Given the description of an element on the screen output the (x, y) to click on. 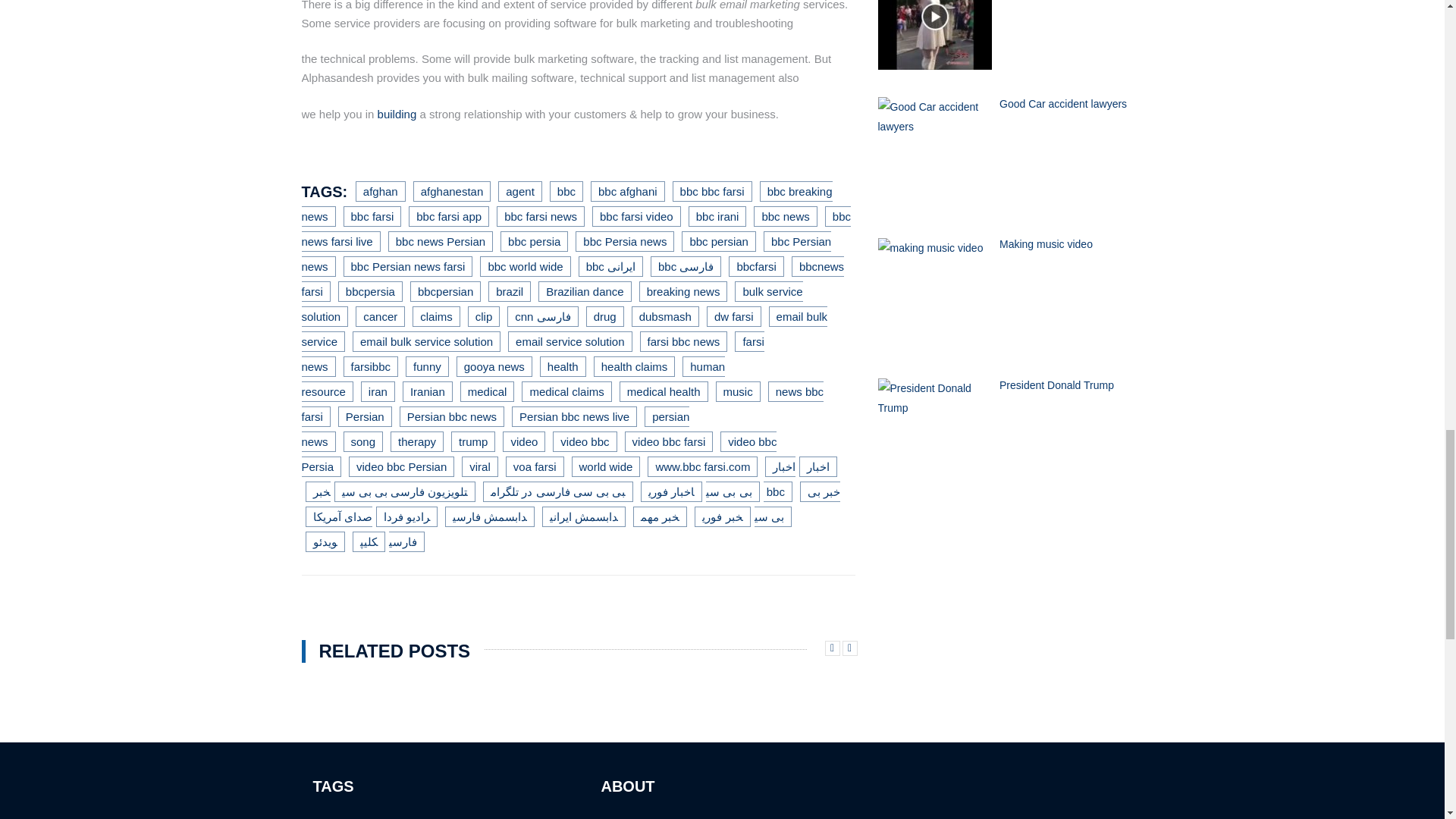
agent (519, 190)
bbc news (785, 216)
bbc news Persian (440, 240)
bbc farsi (372, 216)
bbc farsi video (636, 216)
afghan (380, 190)
bbc farsi app (449, 216)
bbc irani (717, 216)
bbc bbc farsi (712, 190)
building (396, 113)
